Given the description of an element on the screen output the (x, y) to click on. 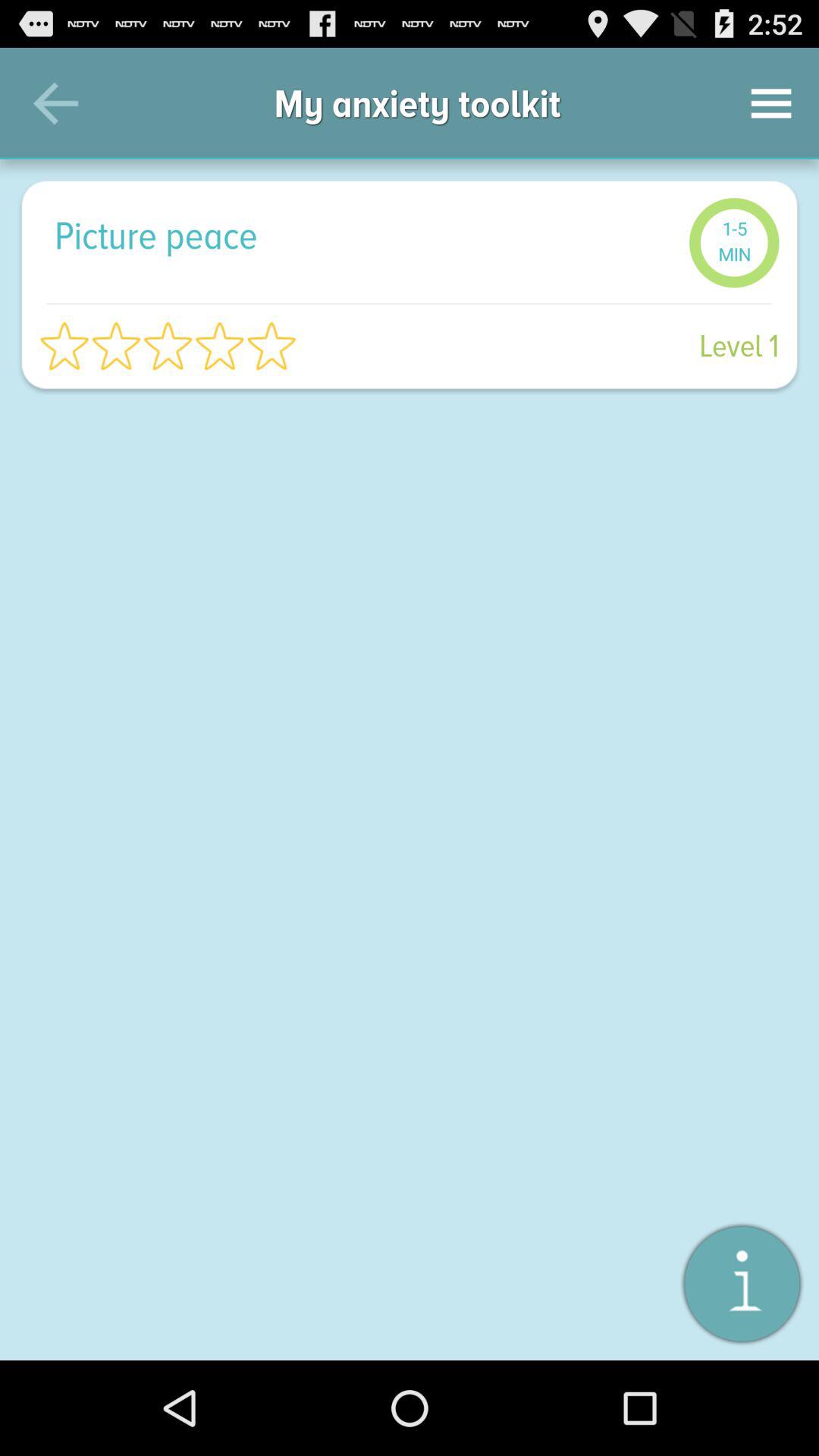
turn on level 1 item (546, 345)
